Given the description of an element on the screen output the (x, y) to click on. 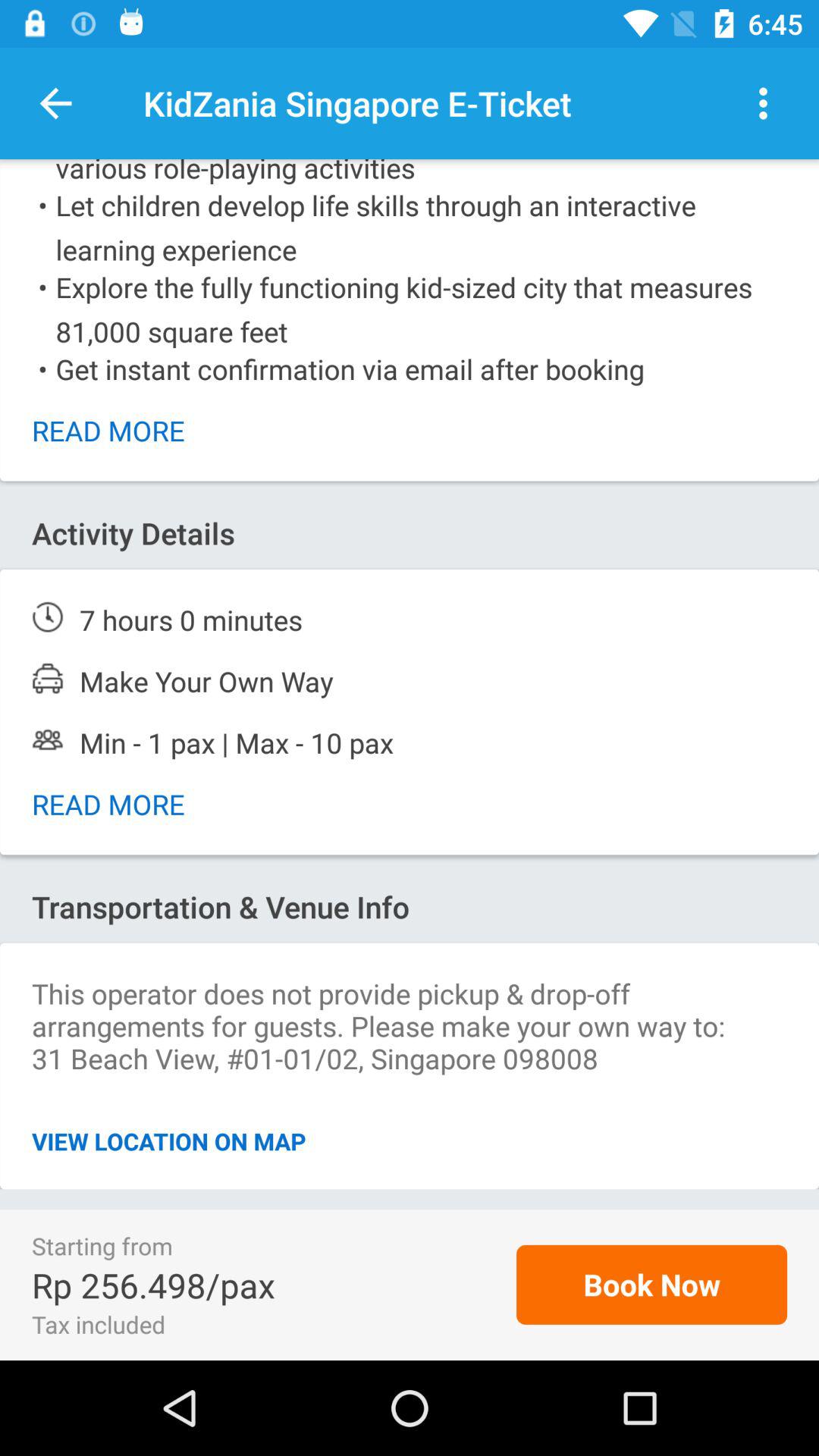
select the text just below activity details (409, 620)
click on people logo (47, 739)
click on peoples detail (409, 742)
